Given the description of an element on the screen output the (x, y) to click on. 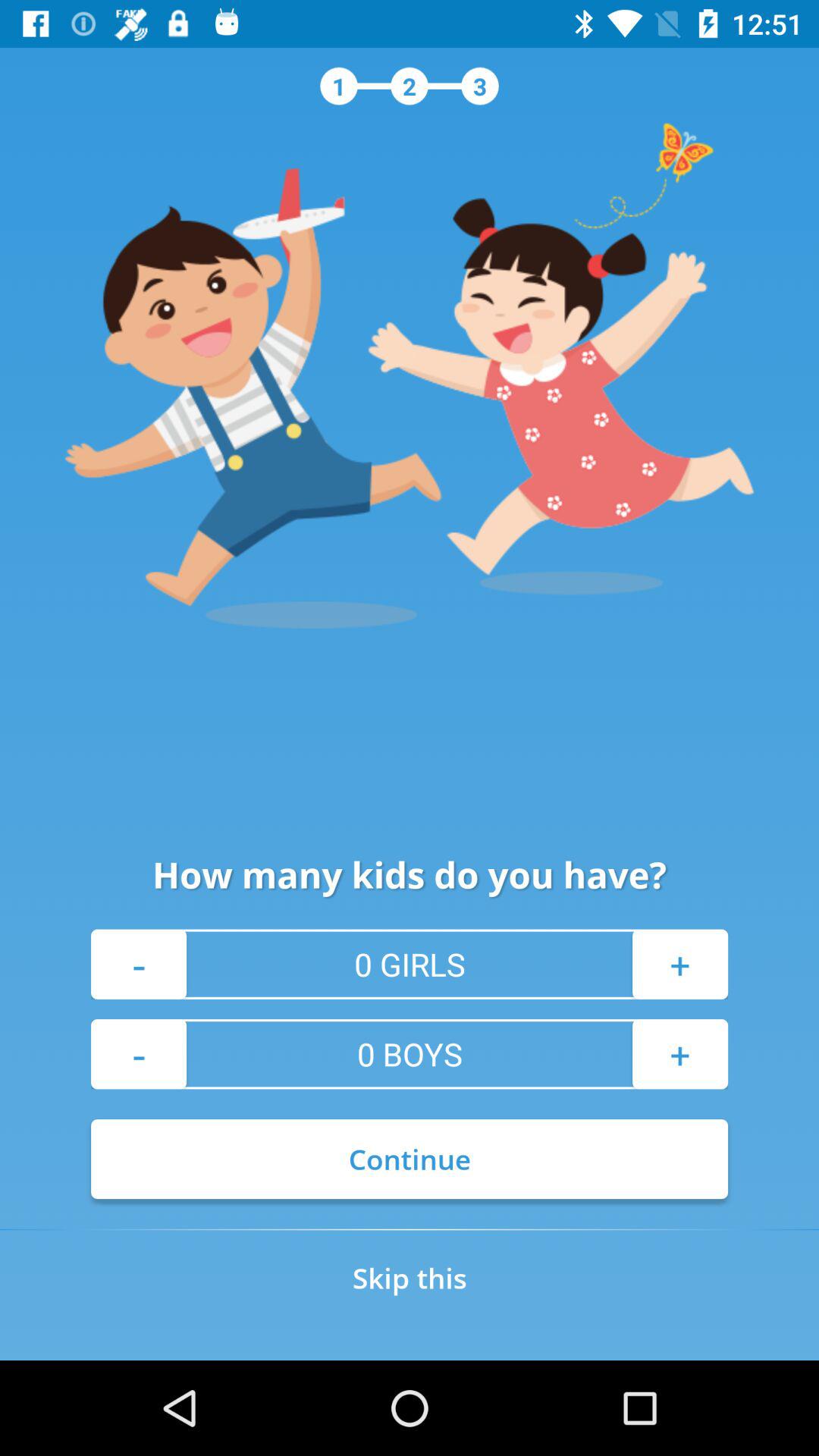
tap the icon below how many kids icon (680, 964)
